Given the description of an element on the screen output the (x, y) to click on. 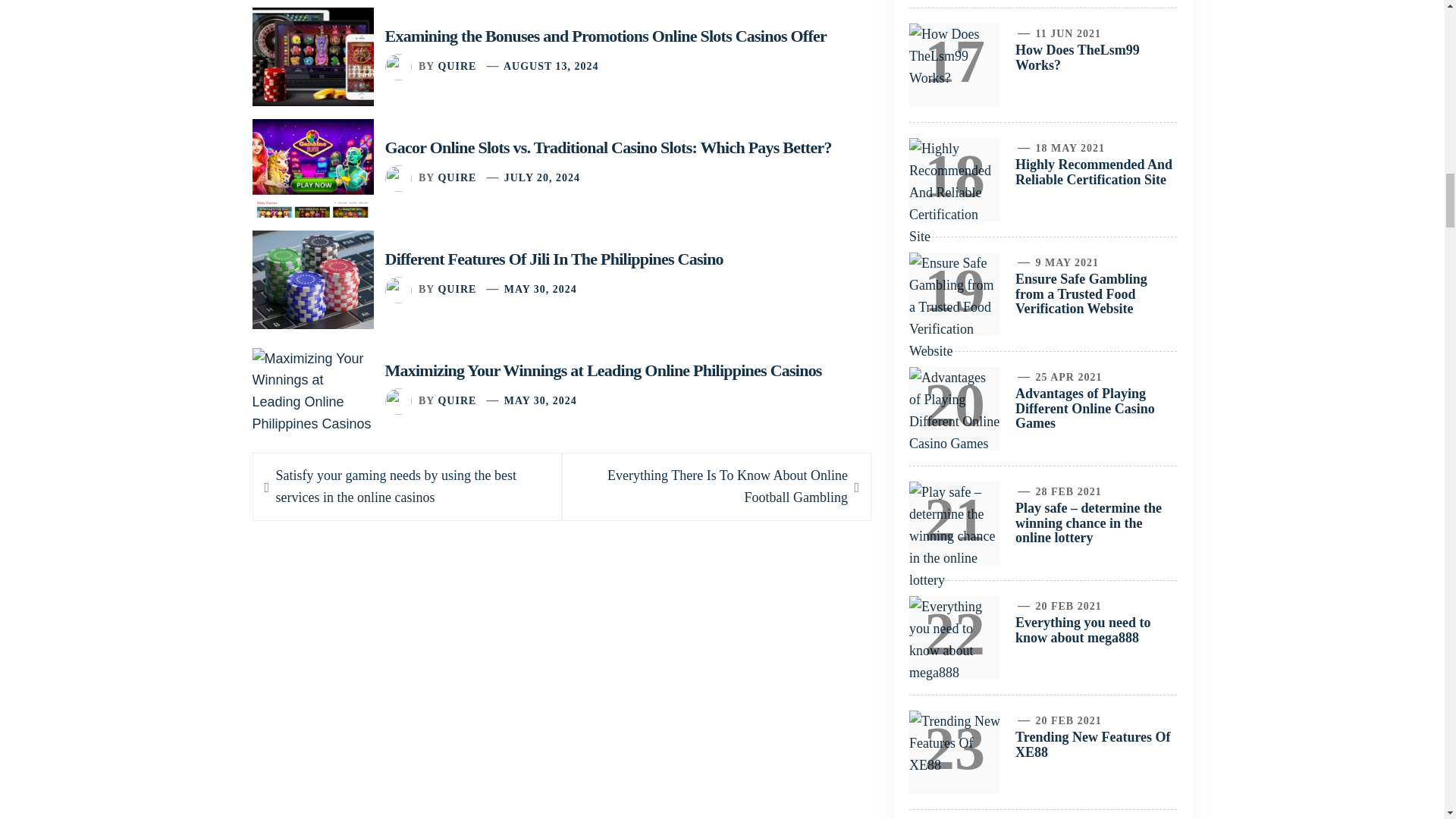
Different Features Of Jili In The Philippines Casino (554, 258)
AUGUST 13, 2024 (550, 66)
QUIRE (457, 177)
MAY 30, 2024 (539, 400)
QUIRE (457, 400)
QUIRE (457, 288)
JULY 20, 2024 (541, 177)
